Given the description of an element on the screen output the (x, y) to click on. 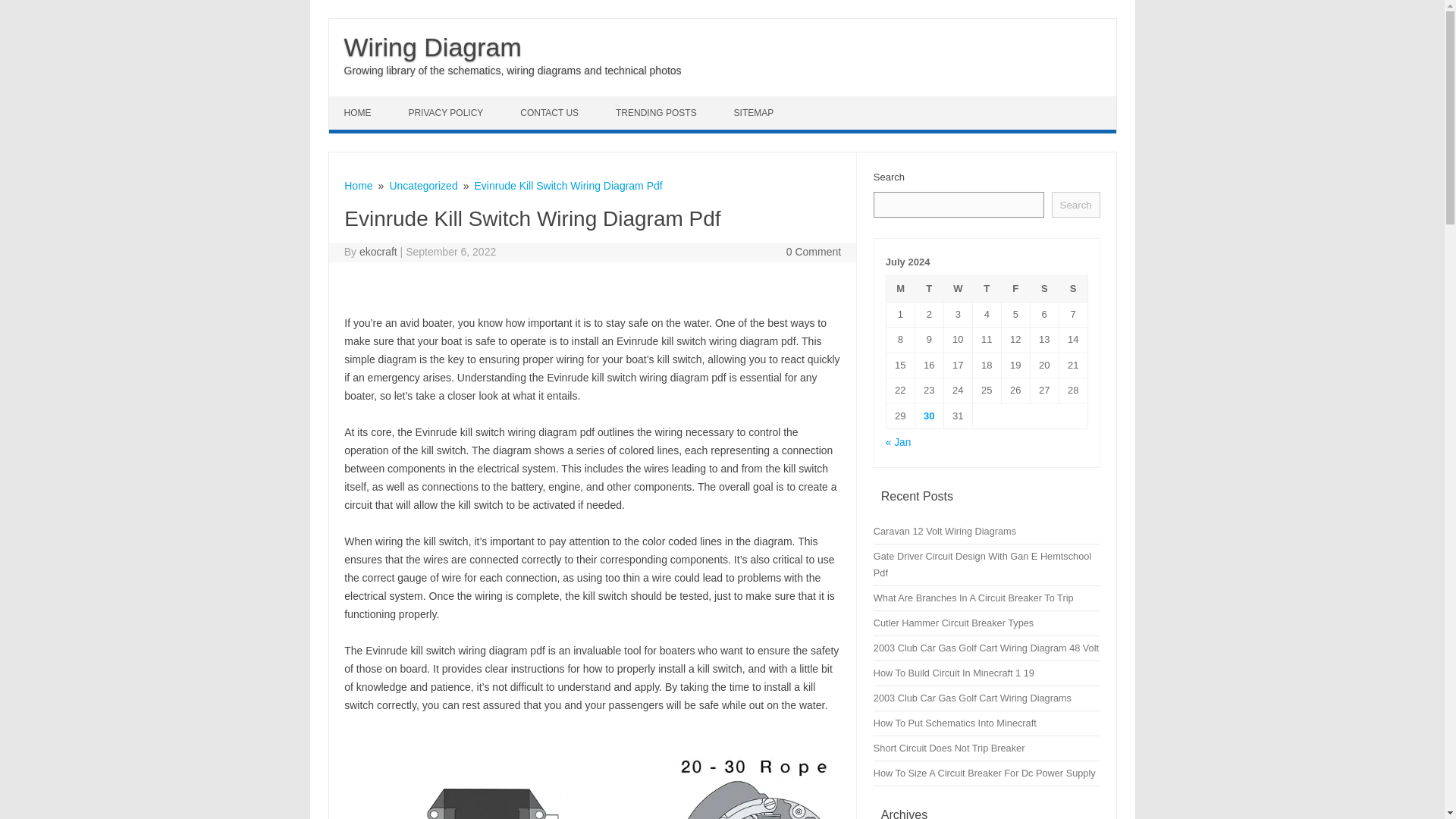
Home (357, 185)
PRIVACY POLICY (447, 112)
HOME (359, 112)
2003 Club Car Gas Golf Cart Wiring Diagram 48 Volt (986, 647)
Evinrude Kill Switch Wiring Diagram Pdf (568, 185)
Gate Driver Circuit Design With Gan E Hemtschool Pdf (981, 564)
Posts by ekocraft (378, 251)
Wiring Diagram (432, 46)
CONTACT US (550, 112)
Search (1075, 204)
ekocraft (378, 251)
How To Build Circuit In Minecraft 1 19 (953, 672)
SITEMAP (756, 112)
Wiring Diagram (432, 46)
